Given the description of an element on the screen output the (x, y) to click on. 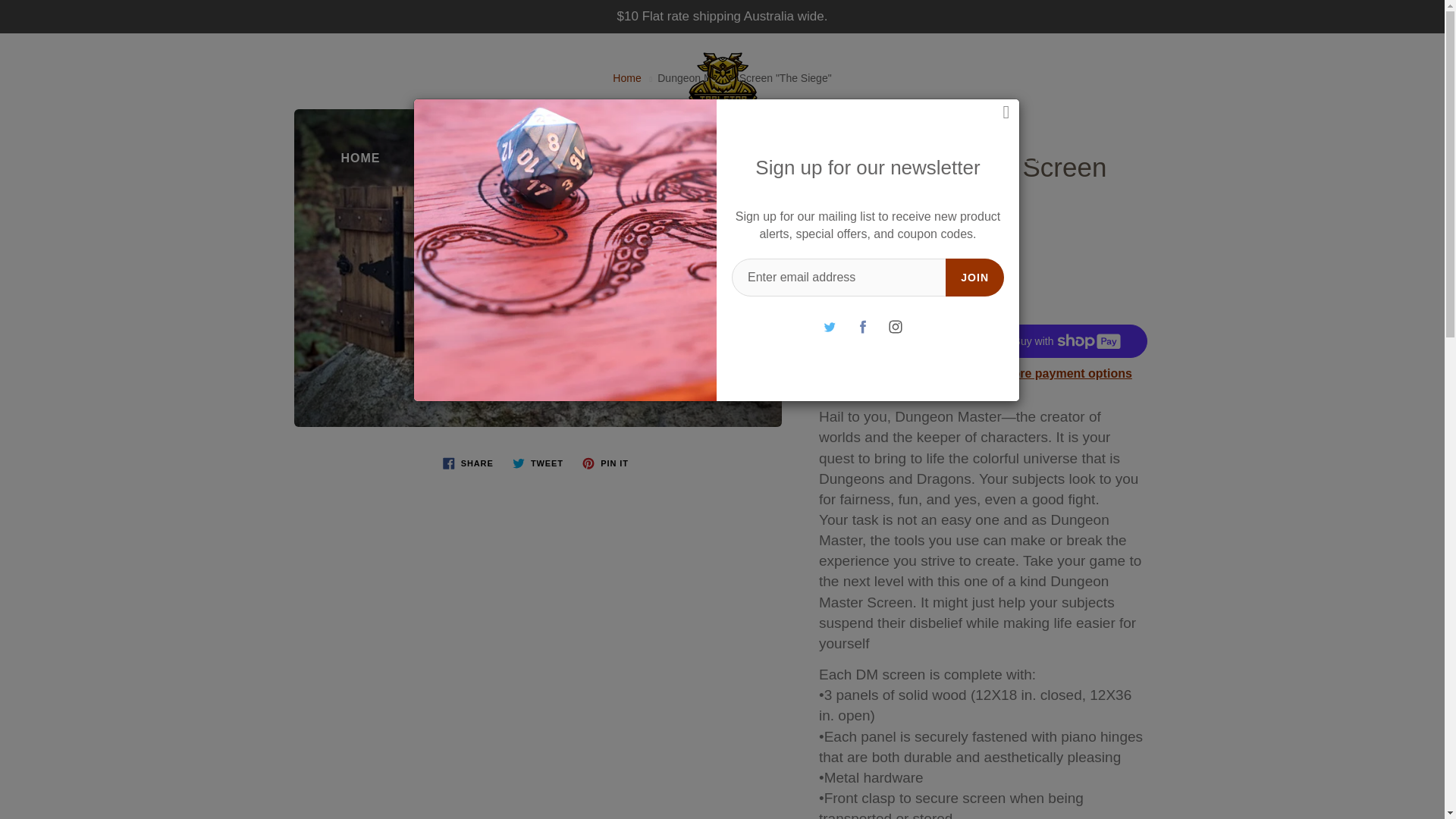
Tweet on Twitter (537, 463)
You have 0 items in your cart (1417, 59)
Twitter (829, 325)
Share on Facebook (467, 463)
Pin on Pinterest (604, 463)
PRODUCTS (463, 158)
Facebook (862, 325)
Search (28, 59)
Home (626, 78)
1 (855, 291)
HOME (359, 158)
Instagram (895, 325)
My account (1379, 59)
